Given the description of an element on the screen output the (x, y) to click on. 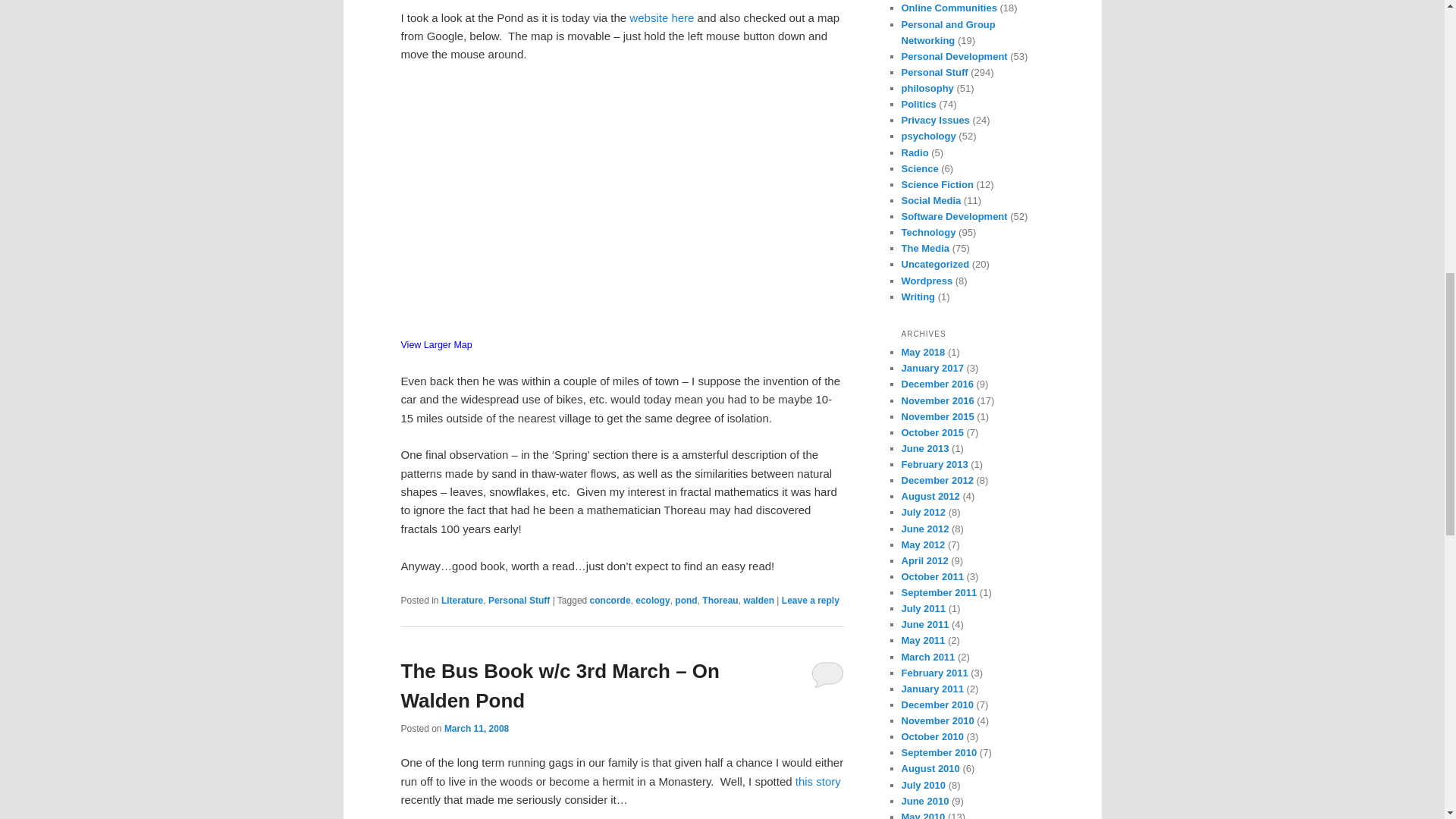
ecology (651, 600)
Walden pond Website (662, 17)
website here (662, 17)
View Larger Map (435, 344)
Thoreau (719, 600)
walden (758, 600)
Leave a reply (810, 600)
pond (686, 600)
Literature (462, 600)
March 11, 2008 (476, 728)
6:48 am (476, 728)
this story (816, 780)
concorde (609, 600)
Personal Stuff (518, 600)
